Given the description of an element on the screen output the (x, y) to click on. 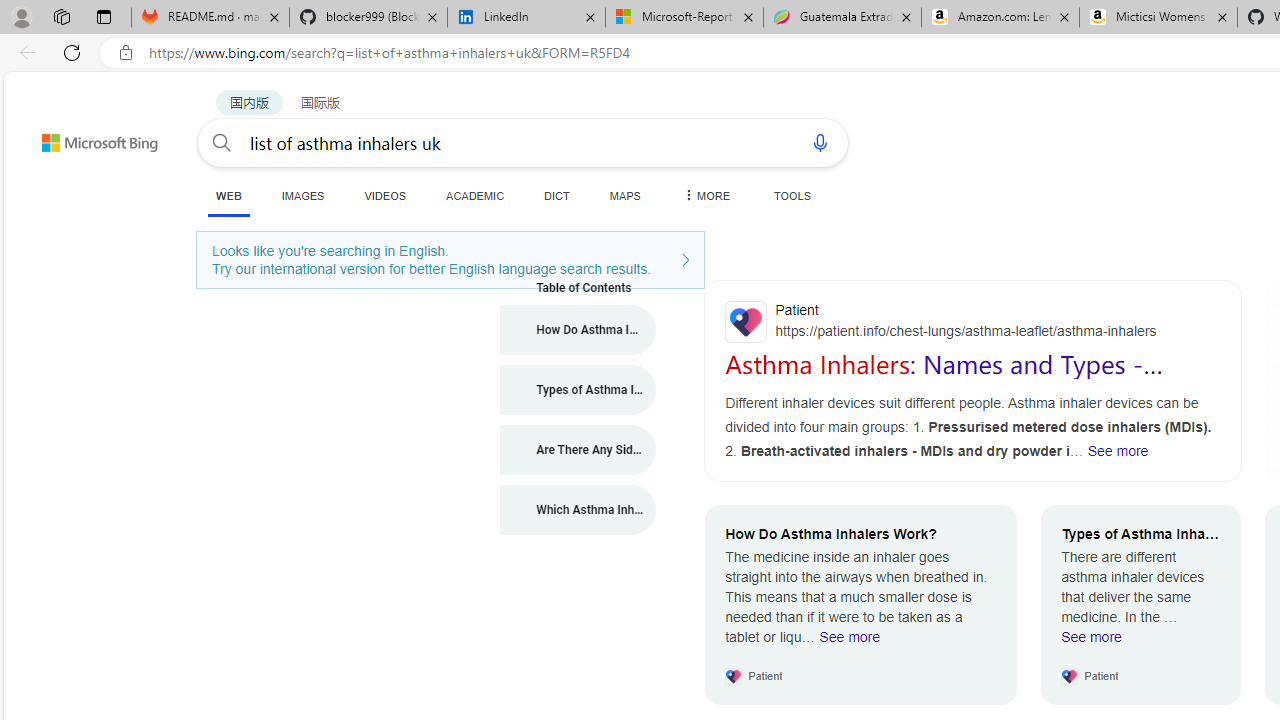
WEB (228, 195)
